Given the description of an element on the screen output the (x, y) to click on. 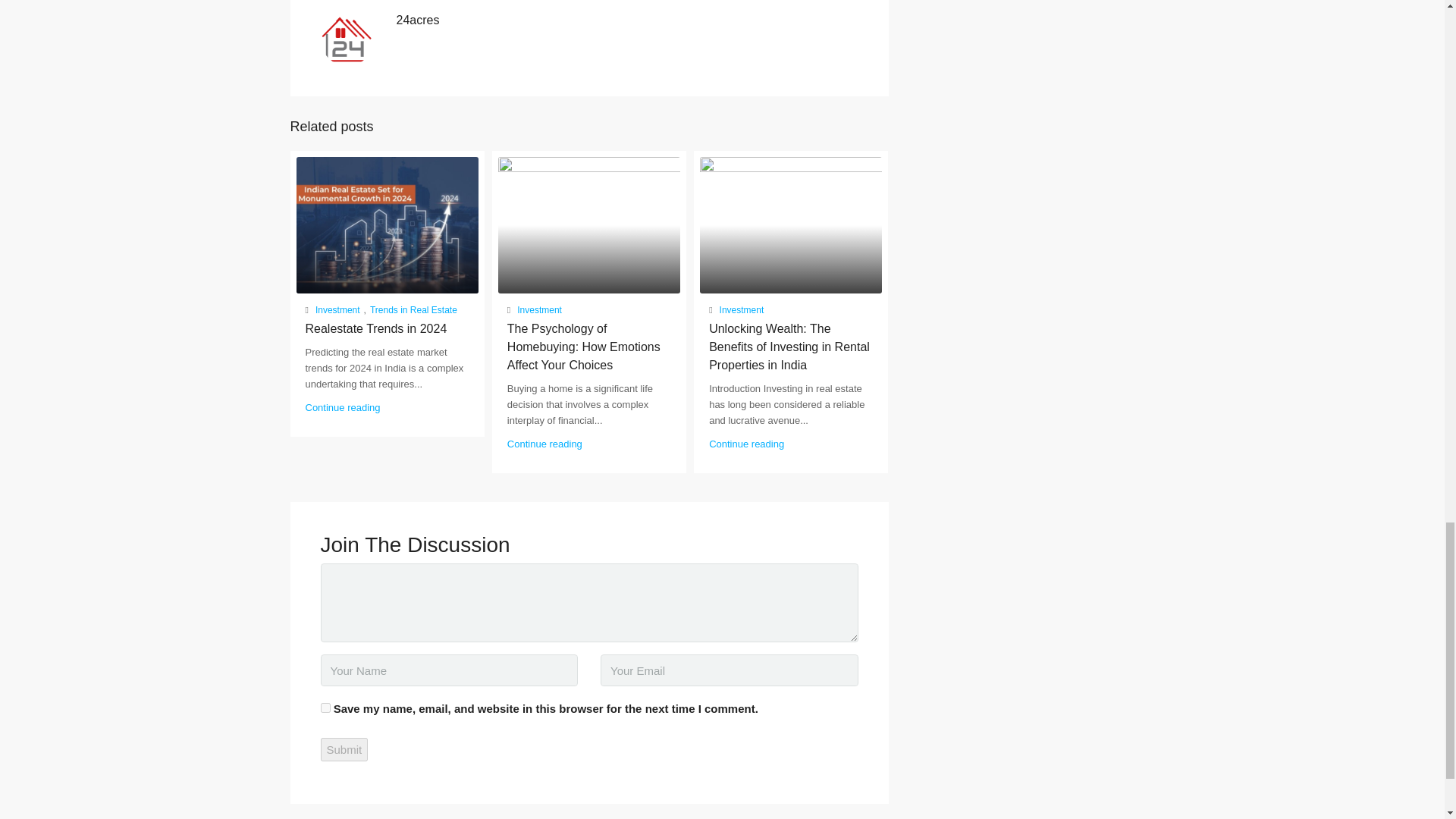
Continue reading (544, 443)
Continue reading (746, 443)
Investment (741, 310)
Investment (337, 310)
Trends in Real Estate (413, 310)
Investment (539, 310)
yes (325, 707)
Continue reading (342, 407)
